Given the description of an element on the screen output the (x, y) to click on. 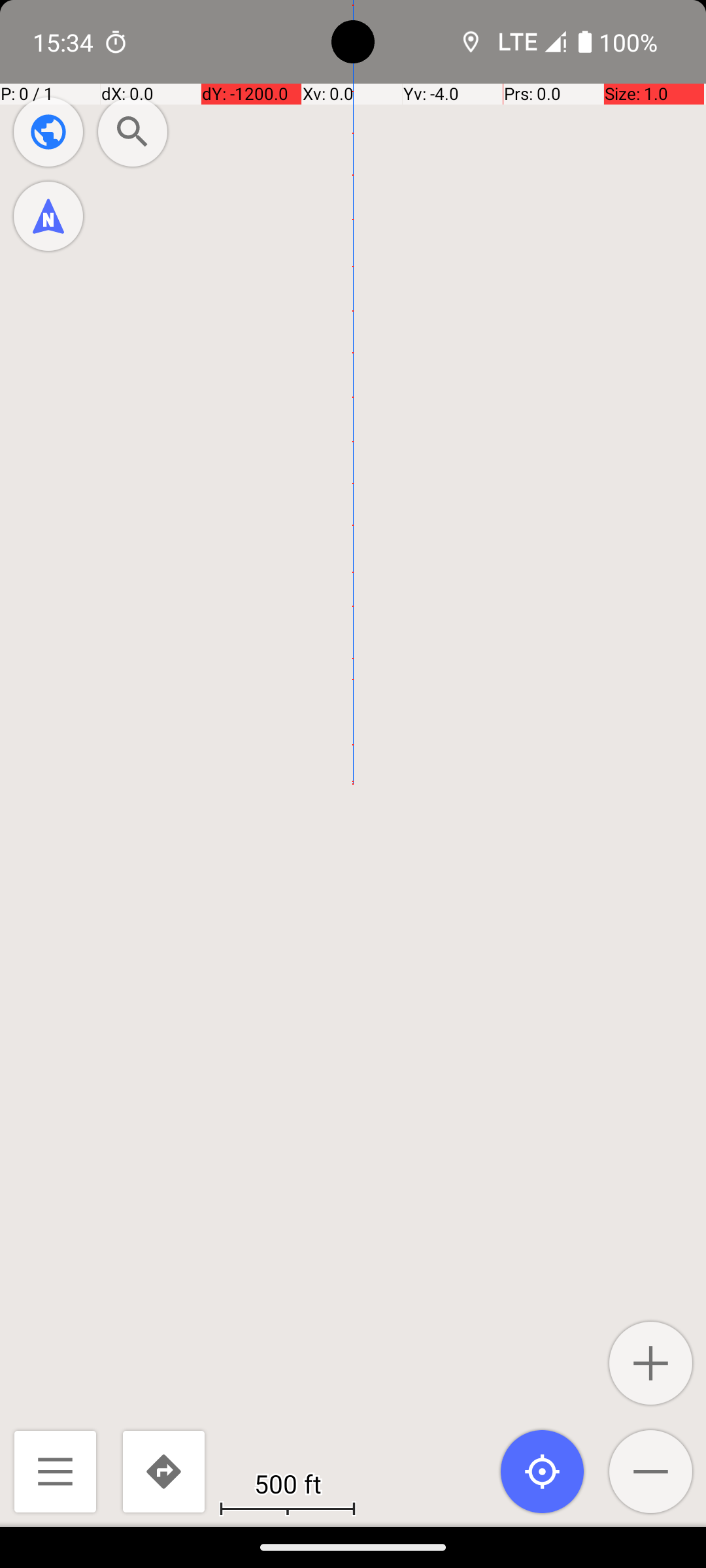
Movement direction Element type: android.widget.ImageButton (48, 216)
500 ft Element type: android.widget.TextView (287, 1483)
Where am I Element type: android.widget.ImageButton (542, 1471)
